Given the description of an element on the screen output the (x, y) to click on. 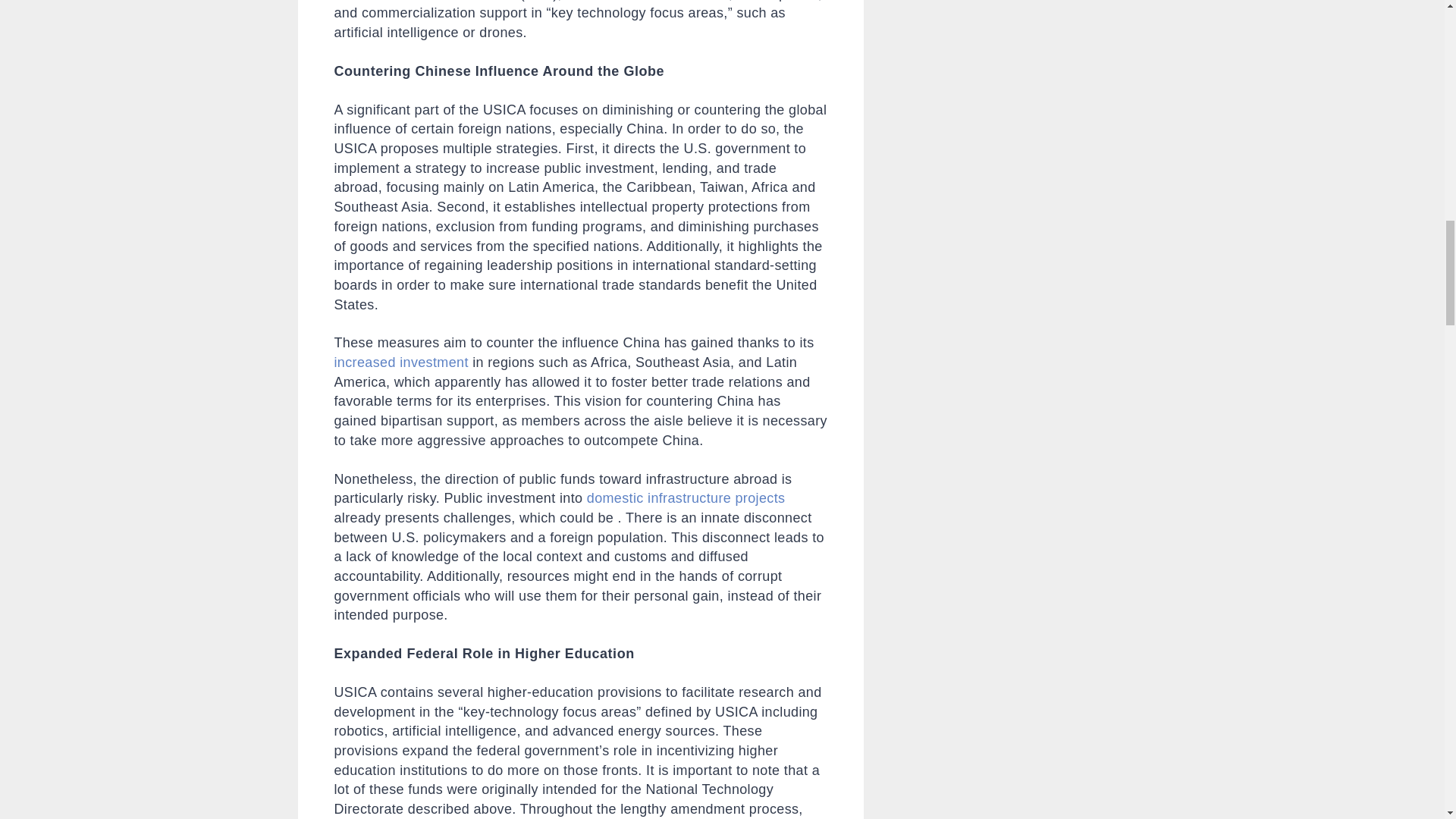
domestic infrastructure projects (686, 498)
increased investment (400, 362)
